Given the description of an element on the screen output the (x, y) to click on. 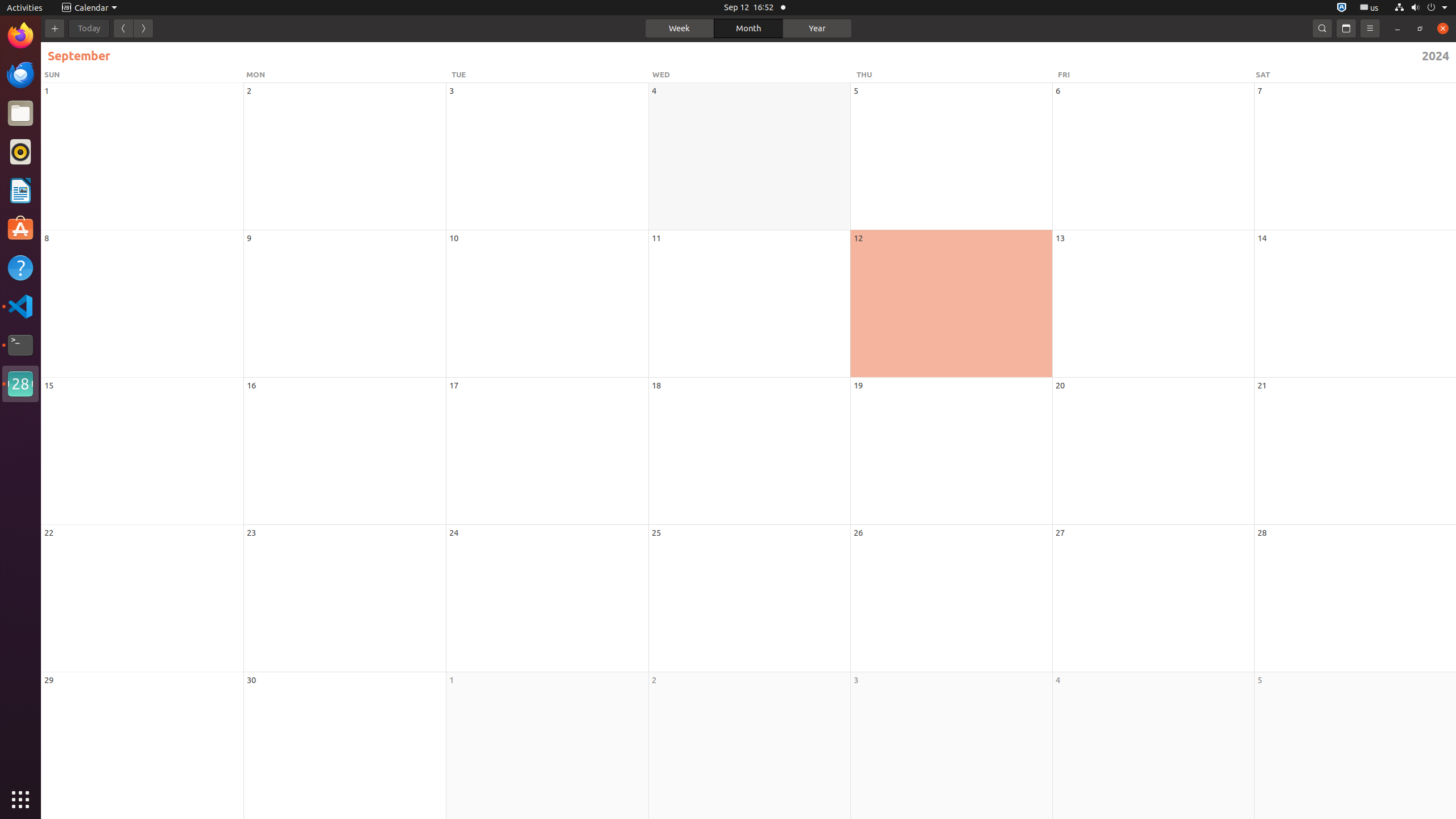
22 Element type: label (48, 532)
MON Element type: label (347, 74)
5 Element type: label (1259, 679)
Minimize Element type: push-button (1397, 27)
